Given the description of an element on the screen output the (x, y) to click on. 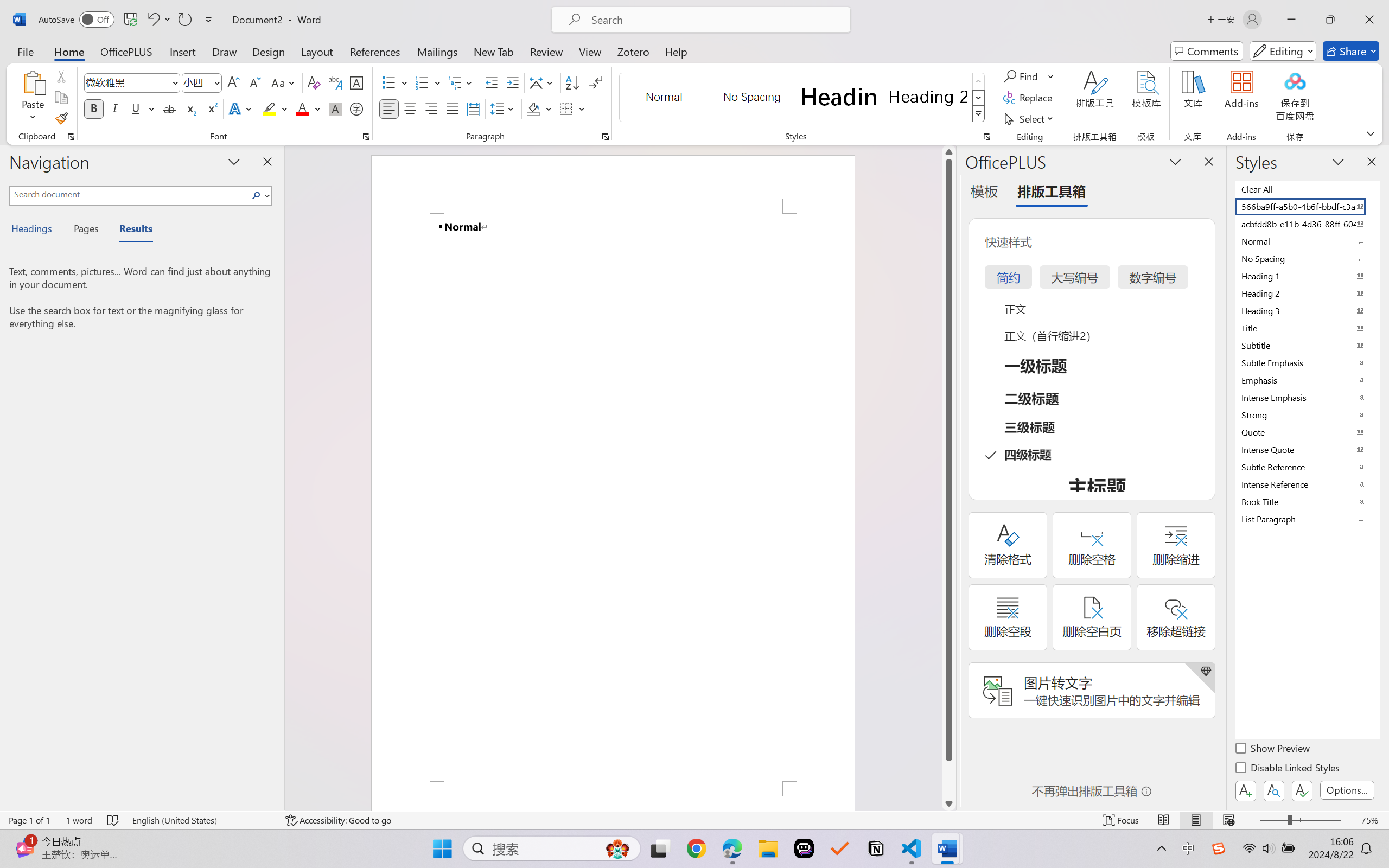
Underline (142, 108)
Page Number Page 1 of 1 (29, 819)
Show/Hide Editing Marks (595, 82)
Accessibility Checker Accessibility: Good to go (338, 819)
Quote (1306, 431)
Pages (85, 229)
Font (132, 82)
Subscript (190, 108)
Subtle Reference (1306, 466)
Class: MsoCommandBar (694, 819)
Text Highlight Color (274, 108)
Subtitle (1306, 345)
